Given the description of an element on the screen output the (x, y) to click on. 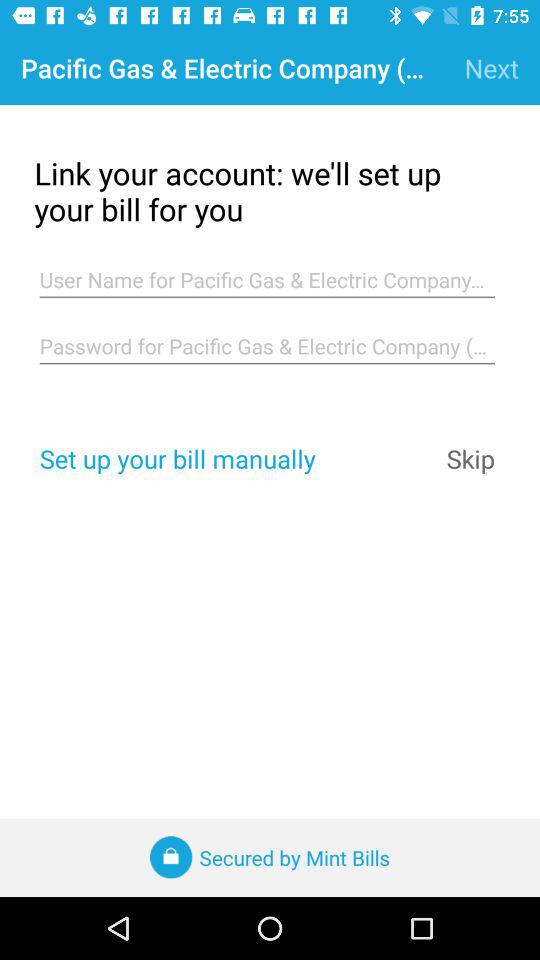
select the item below the link your account (267, 280)
